Given the description of an element on the screen output the (x, y) to click on. 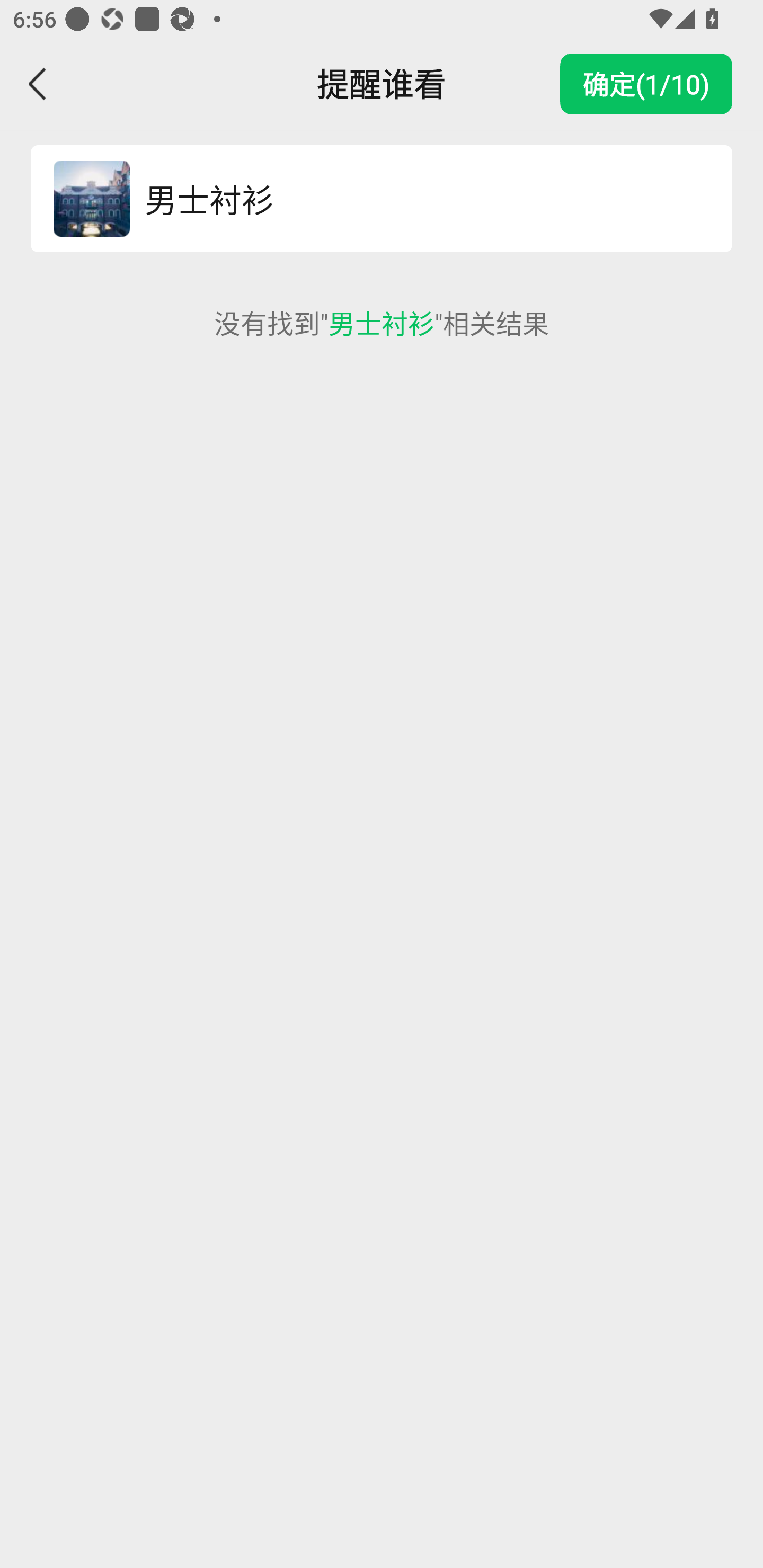
返回 (38, 83)
确定(1/10) (646, 83)
CYX (91, 198)
男士衬衫 (418, 198)
